Given the description of an element on the screen output the (x, y) to click on. 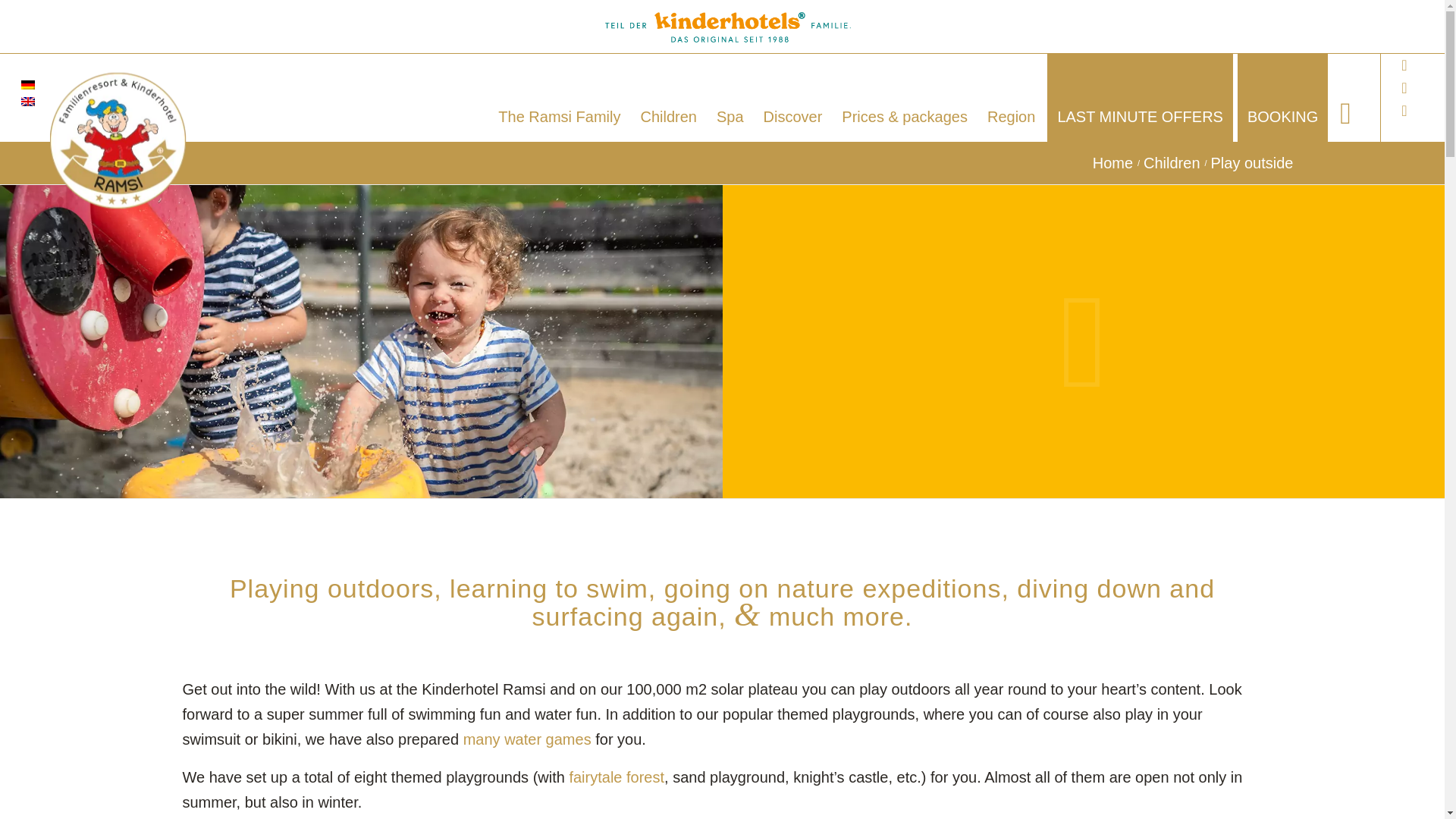
Children (1171, 163)
Instagram (1404, 110)
BOOKING (1282, 97)
Discover (793, 97)
LAST MINUTE OFFERS (1139, 97)
Facebook (1404, 65)
Youtube (1404, 87)
The Ramsi Family (558, 97)
